Given the description of an element on the screen output the (x, y) to click on. 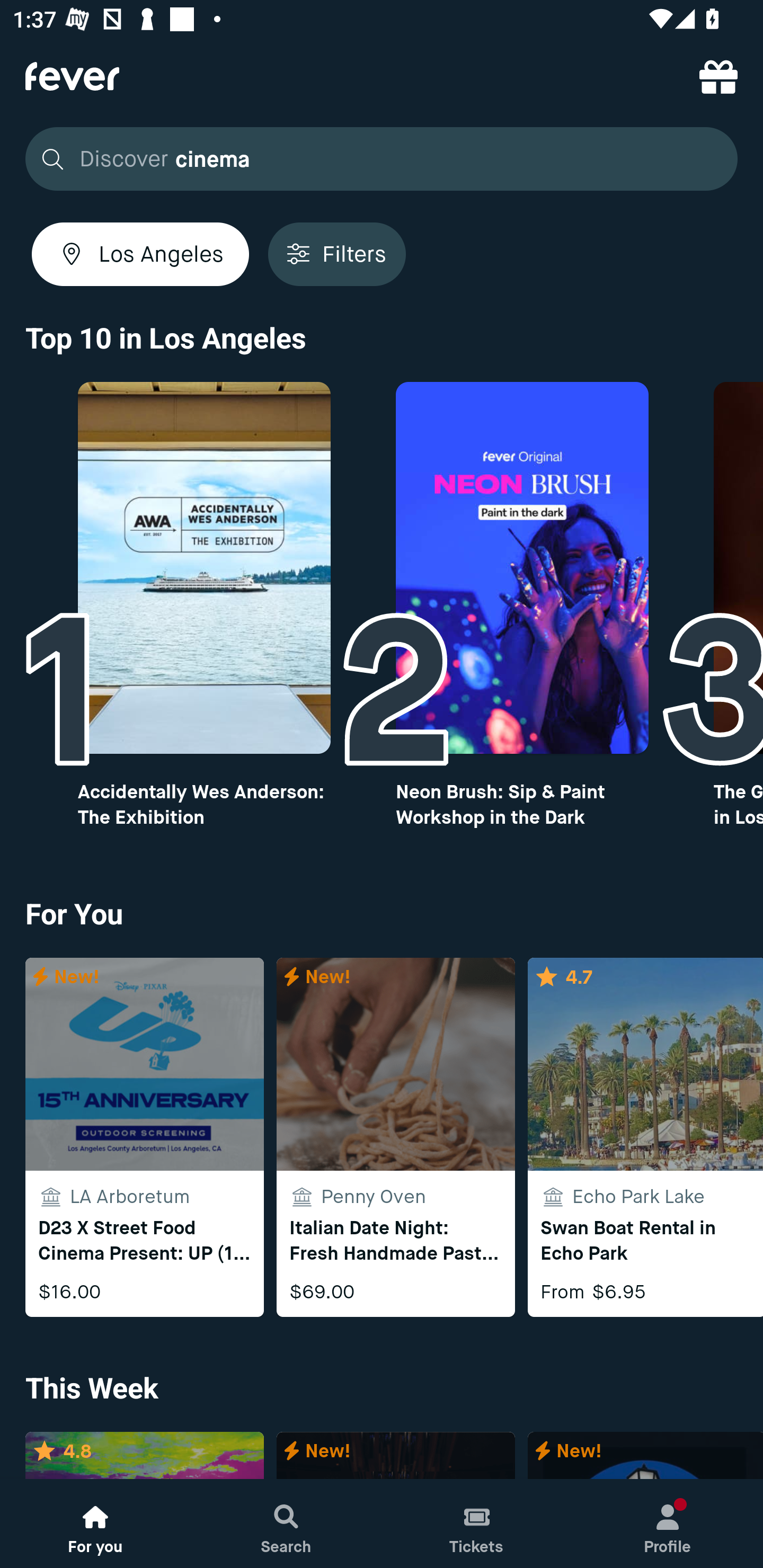
referral (718, 75)
Discover cinema (381, 158)
Discover cinema (376, 158)
Los Angeles (140, 253)
Filters (336, 253)
Top10 image (203, 568)
Top10 image (521, 568)
Search (285, 1523)
Tickets (476, 1523)
Profile, New notification Profile (667, 1523)
